Given the description of an element on the screen output the (x, y) to click on. 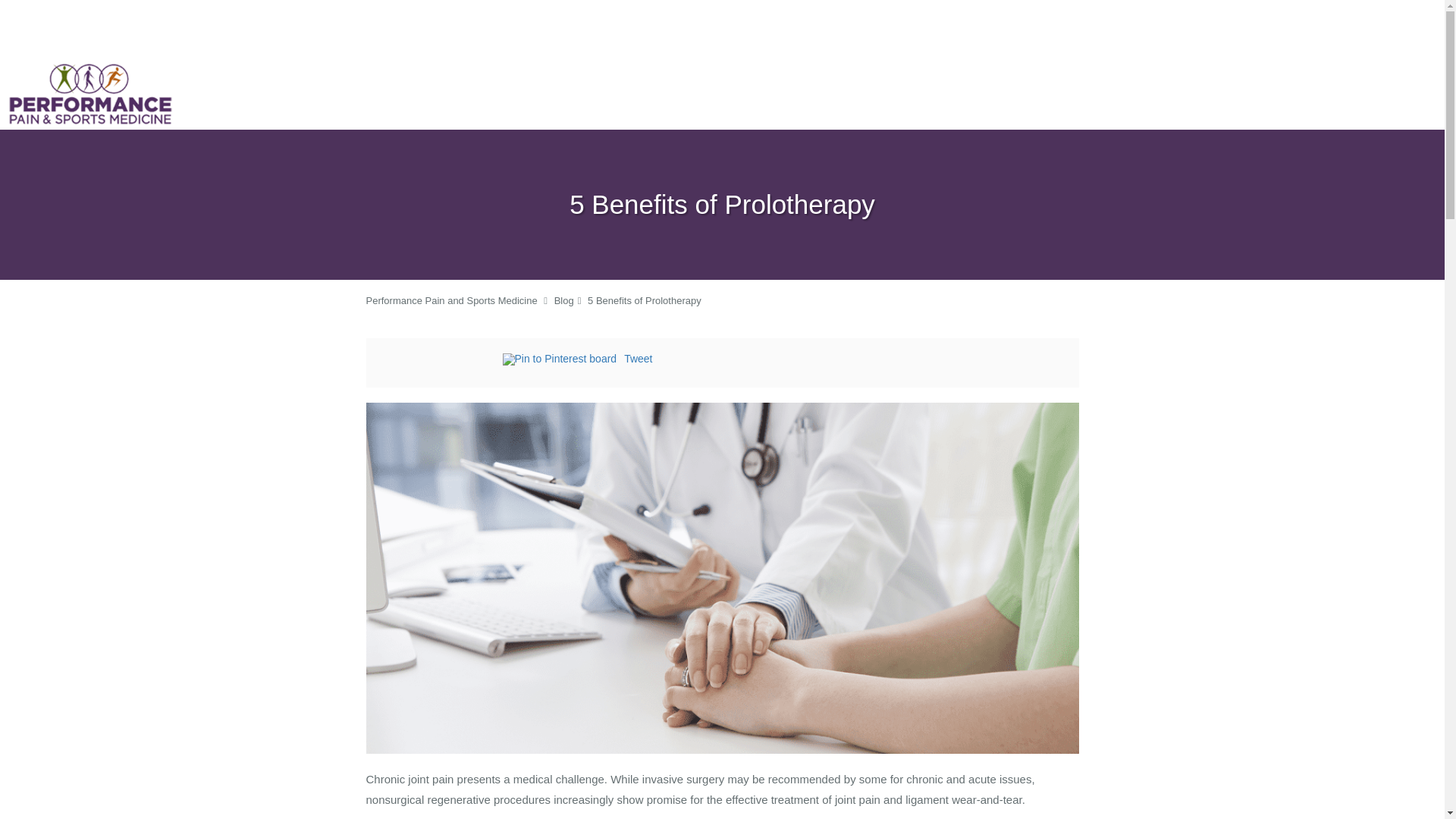
Facebook social button (441, 360)
Skip to main content (74, 66)
